Given the description of an element on the screen output the (x, y) to click on. 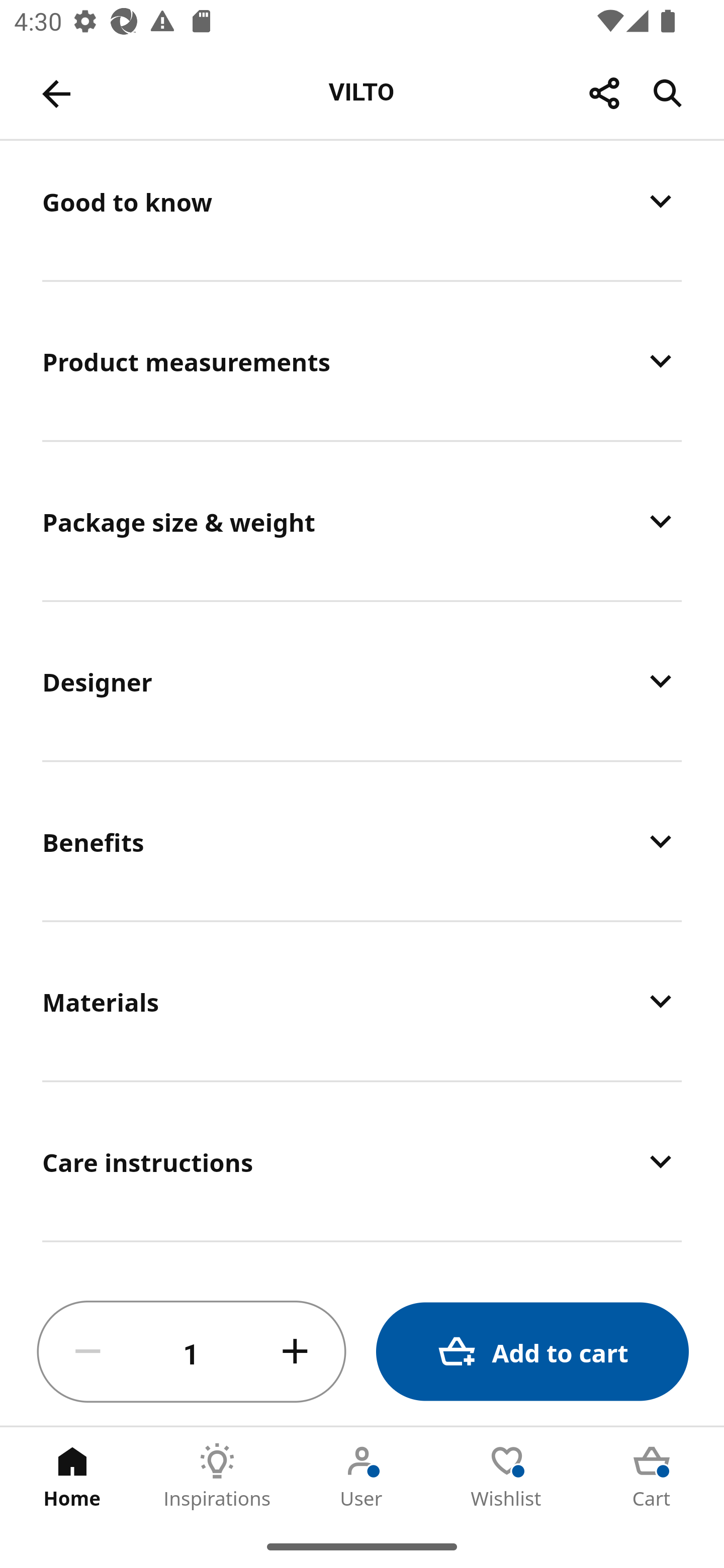
Good to know (361, 210)
Product measurements (361, 360)
Package size & weight (361, 520)
Designer (361, 680)
Benefits (361, 840)
Materials (361, 1000)
Care instructions (361, 1160)
Add to cart (531, 1352)
1 (191, 1352)
Home
Tab 1 of 5 (72, 1476)
Inspirations
Tab 2 of 5 (216, 1476)
User
Tab 3 of 5 (361, 1476)
Wishlist
Tab 4 of 5 (506, 1476)
Cart
Tab 5 of 5 (651, 1476)
